Given the description of an element on the screen output the (x, y) to click on. 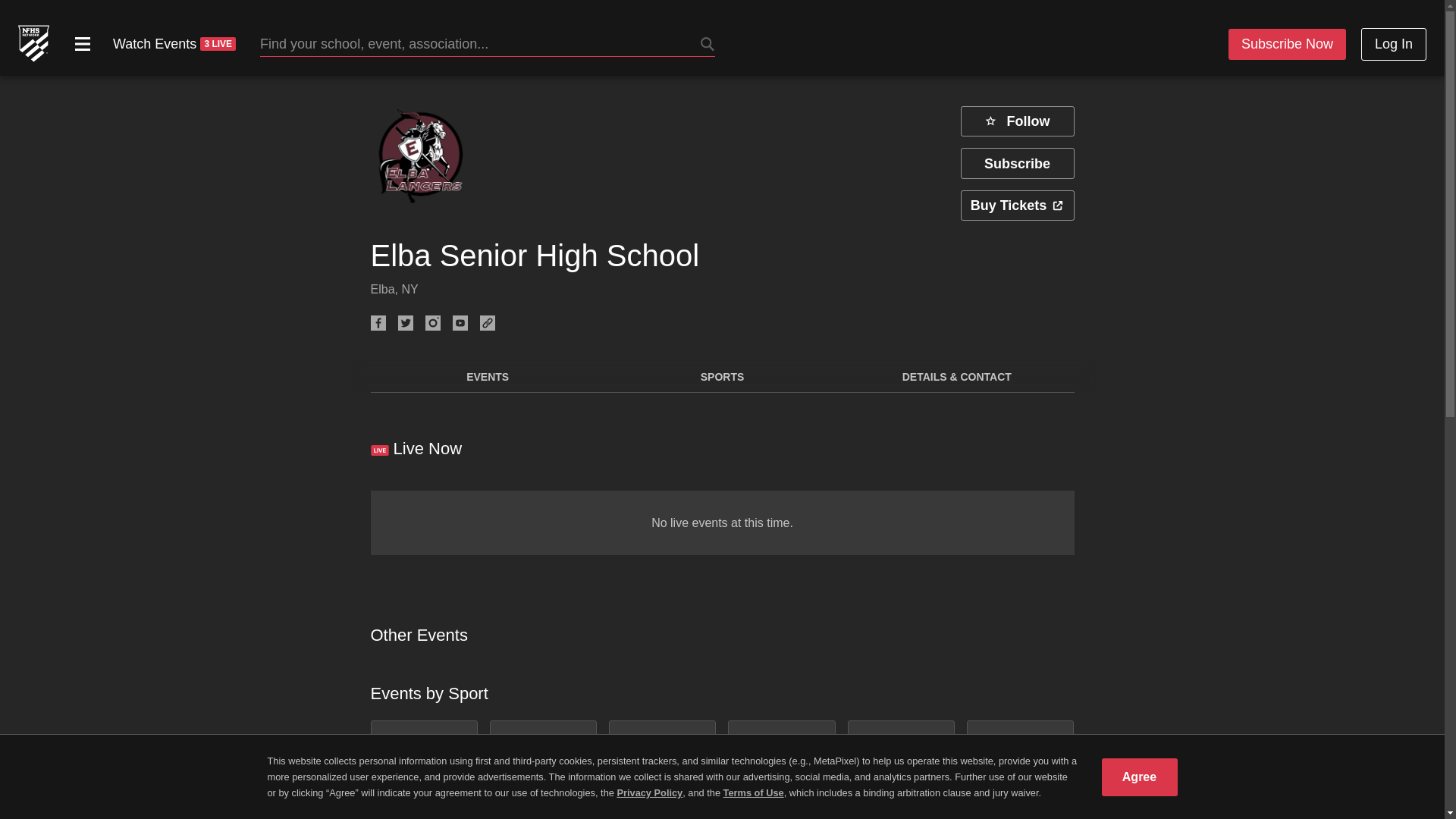
Watch Events 3 LIVE (173, 44)
You will be directed to GoFan.co to buy tickets. (1016, 205)
Subscribe Now (1277, 40)
Subscribe Now (1286, 43)
